Given the description of an element on the screen output the (x, y) to click on. 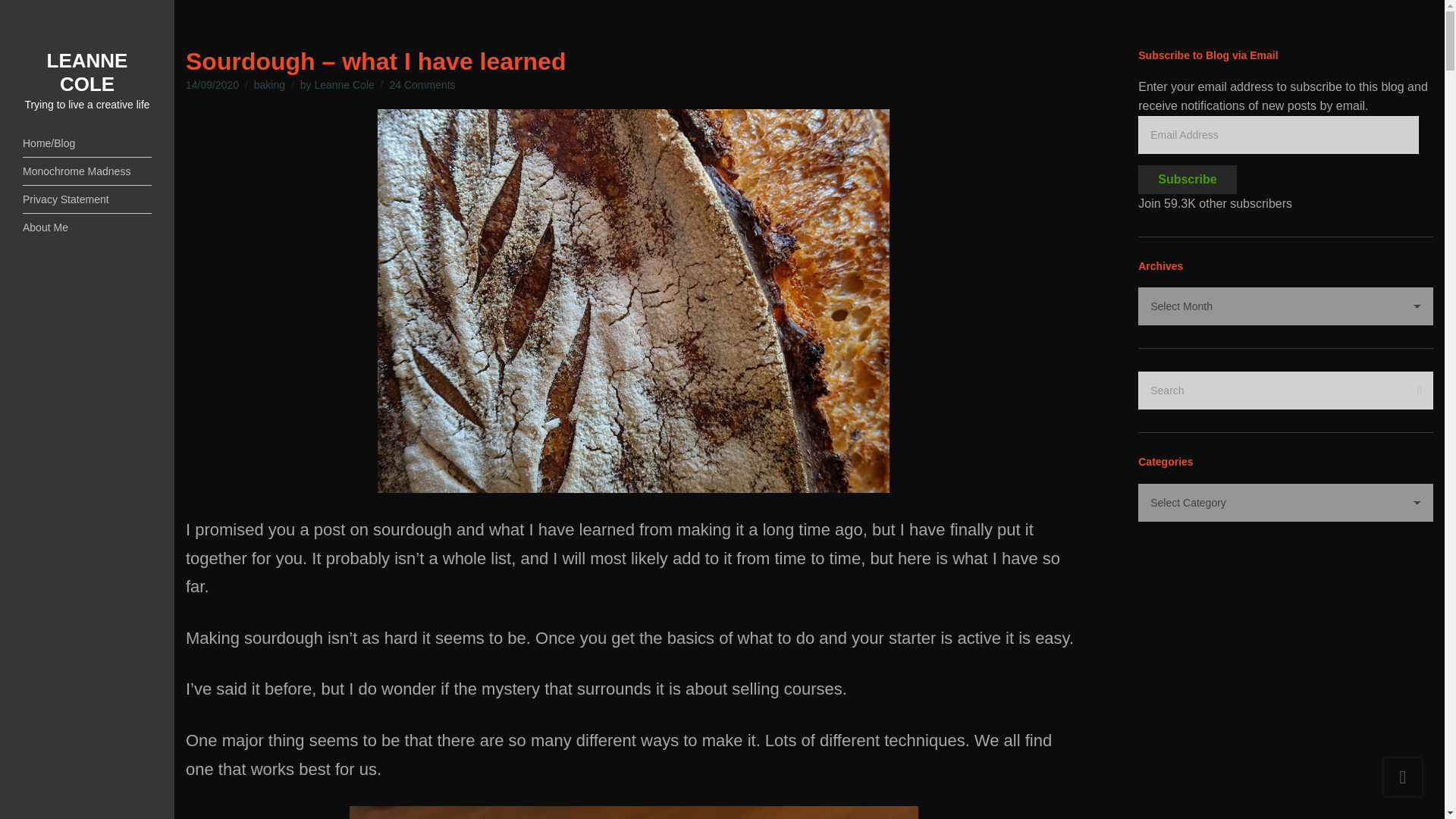
baking (269, 84)
Privacy Statement (87, 199)
Leanne Cole (344, 84)
About (87, 226)
Monochrome Madness (87, 171)
About Me (87, 226)
LEANNE COLE (87, 72)
